Given the description of an element on the screen output the (x, y) to click on. 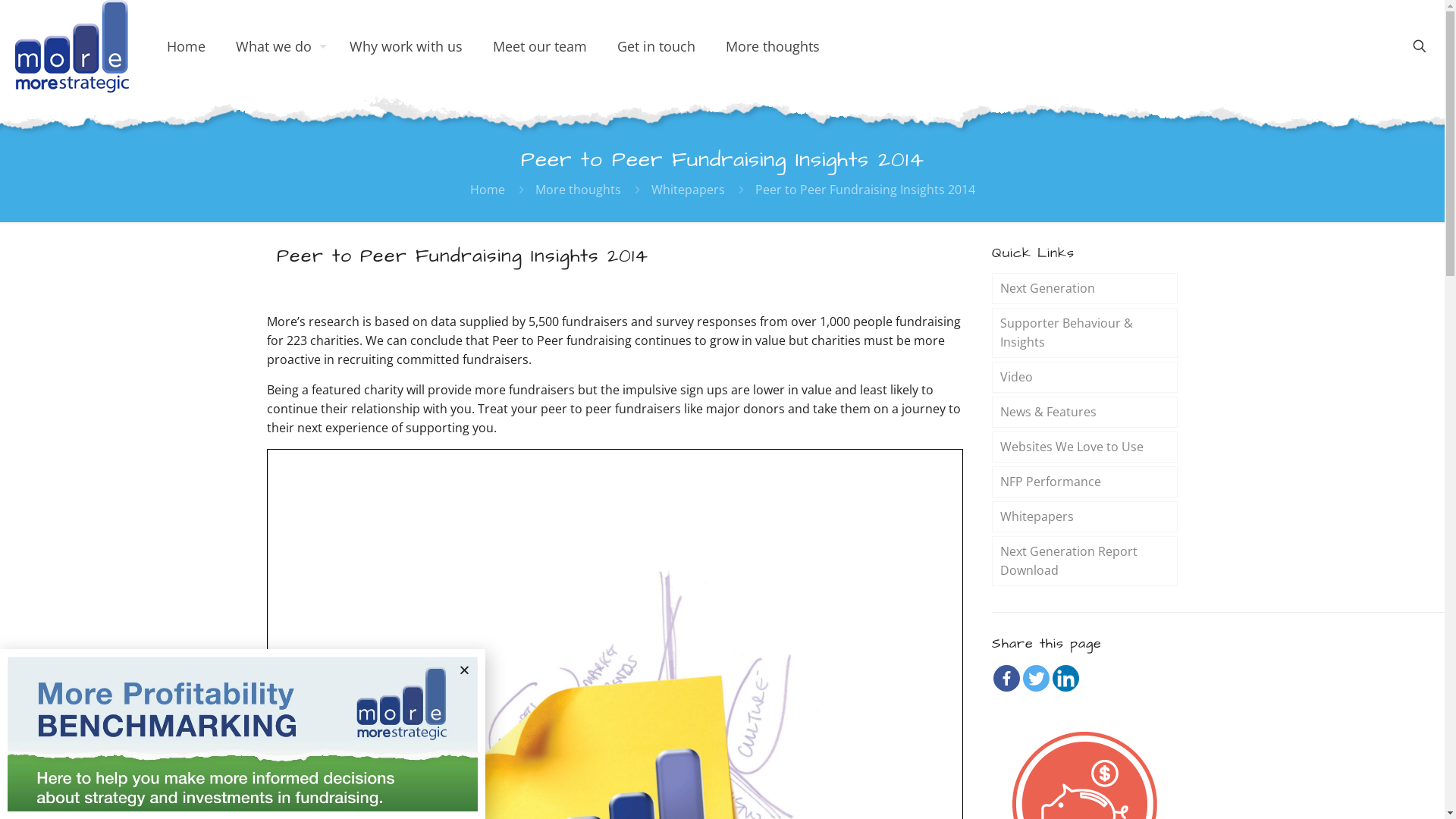
More thoughts Element type: text (578, 189)
More Strategic Element type: hover (71, 46)
Whitepapers Element type: text (687, 189)
News & Features Element type: text (1083, 411)
Get in touch Element type: text (656, 46)
Websites We Love to Use Element type: text (1083, 446)
Next Generation Element type: text (1083, 288)
Why work with us Element type: text (405, 46)
Twitter Element type: hover (1035, 678)
Meet our team Element type: text (539, 46)
Video Element type: text (1083, 376)
Home Element type: text (185, 46)
More thoughts Element type: text (772, 46)
Facebook Element type: hover (1006, 678)
Home Element type: text (487, 189)
Next Generation Report Download Element type: text (1083, 561)
What we do Element type: text (277, 46)
NFP Performance Element type: text (1083, 481)
Whitepapers Element type: text (1083, 516)
Supporter Behaviour & Insights Element type: text (1083, 332)
Linkedin Element type: hover (1065, 678)
